Given the description of an element on the screen output the (x, y) to click on. 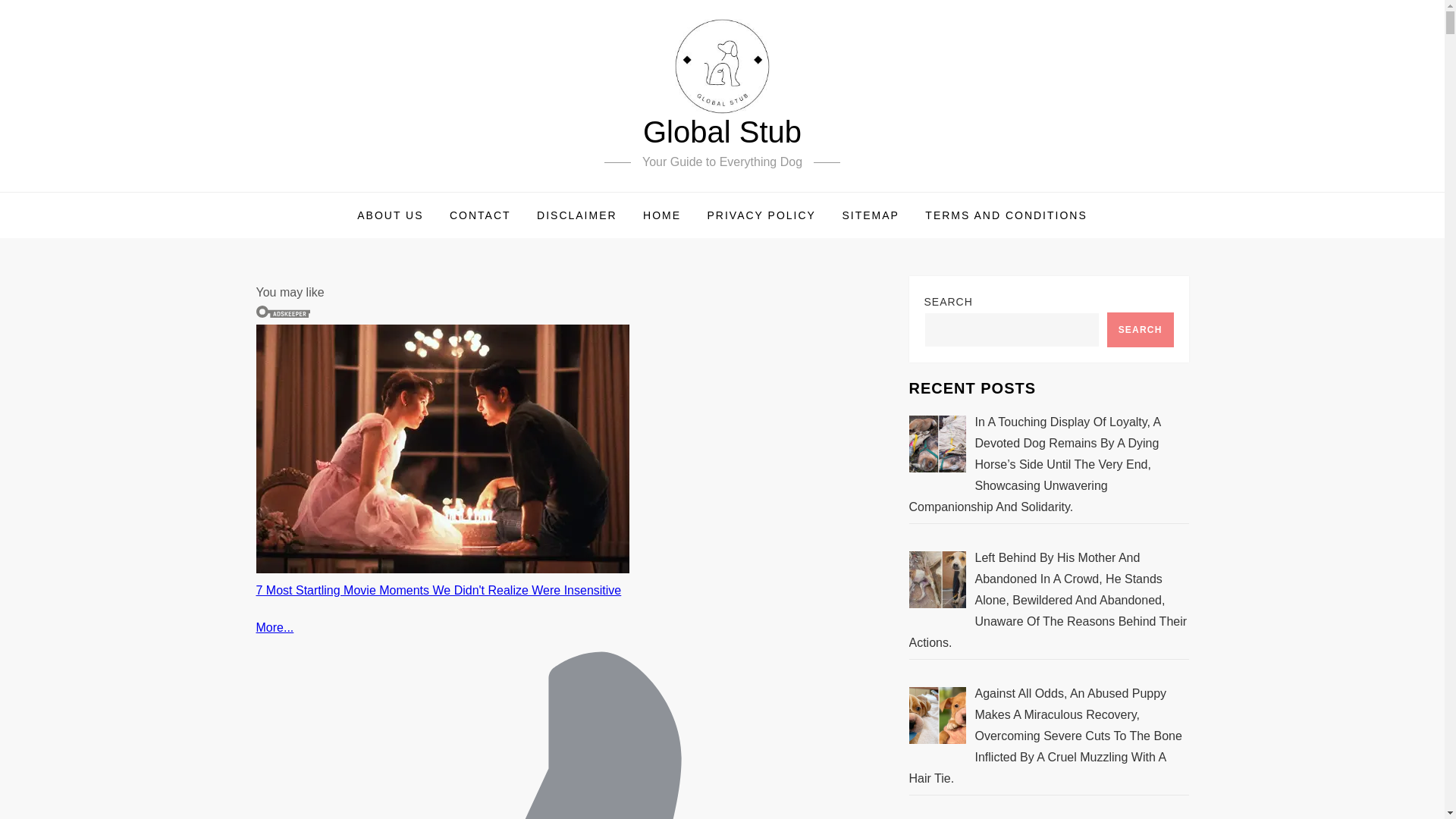
PRIVACY POLICY (761, 215)
TERMS AND CONDITIONS (1005, 215)
ABOUT US (389, 215)
HOME (662, 215)
DISCLAIMER (576, 215)
SITEMAP (869, 215)
SEARCH (1139, 329)
CONTACT (480, 215)
Global Stub (722, 131)
